Given the description of an element on the screen output the (x, y) to click on. 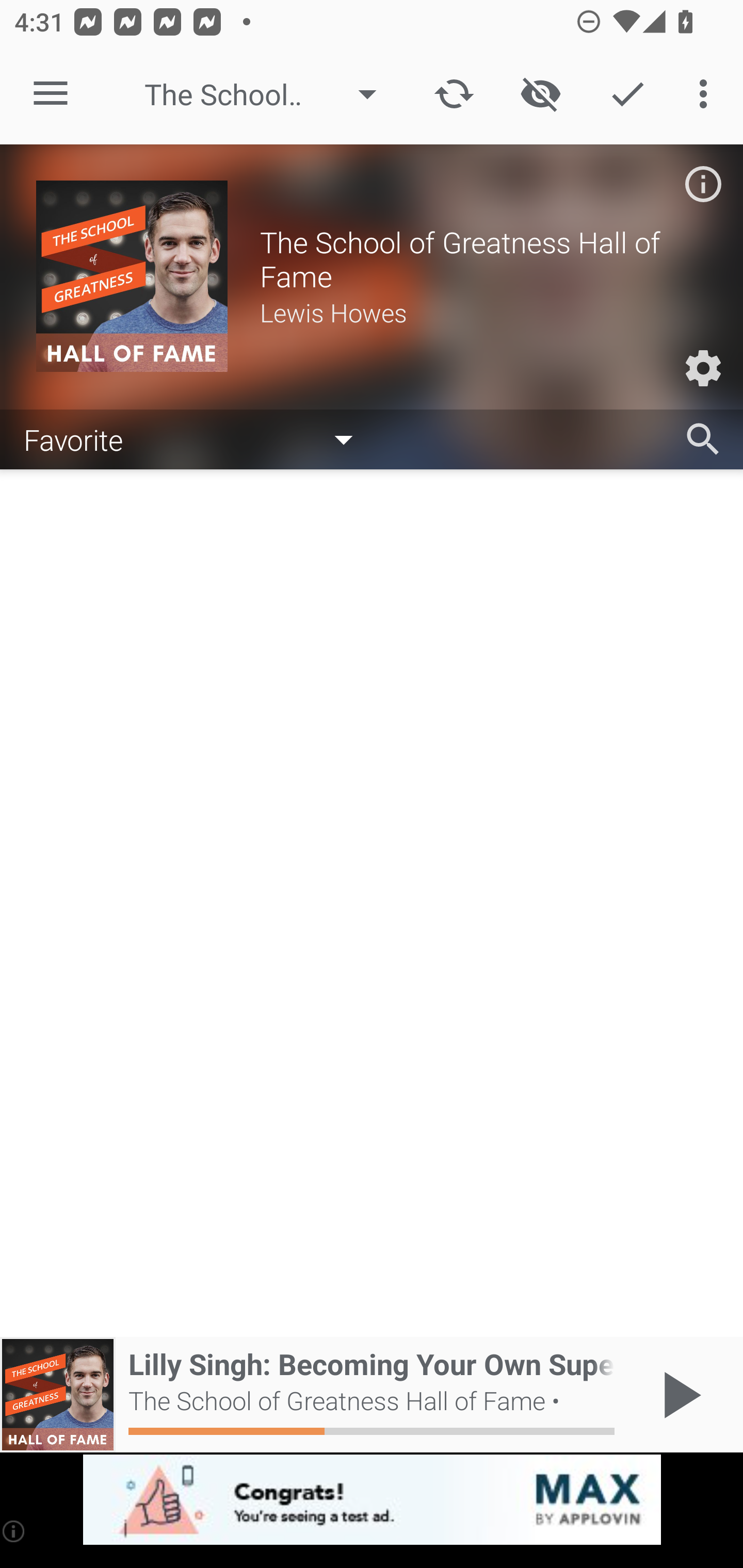
Open navigation sidebar (50, 93)
Update (453, 93)
Show / Hide played content (540, 93)
Action Mode (626, 93)
More options (706, 93)
The School of Greatness Hall of Fame (270, 94)
Podcast description (703, 184)
Lewis Howes (483, 311)
Custom Settings (703, 368)
Search (703, 439)
Favorite (197, 438)
Play / Pause (677, 1394)
app-monetization (371, 1500)
(i) (14, 1531)
